Given the description of an element on the screen output the (x, y) to click on. 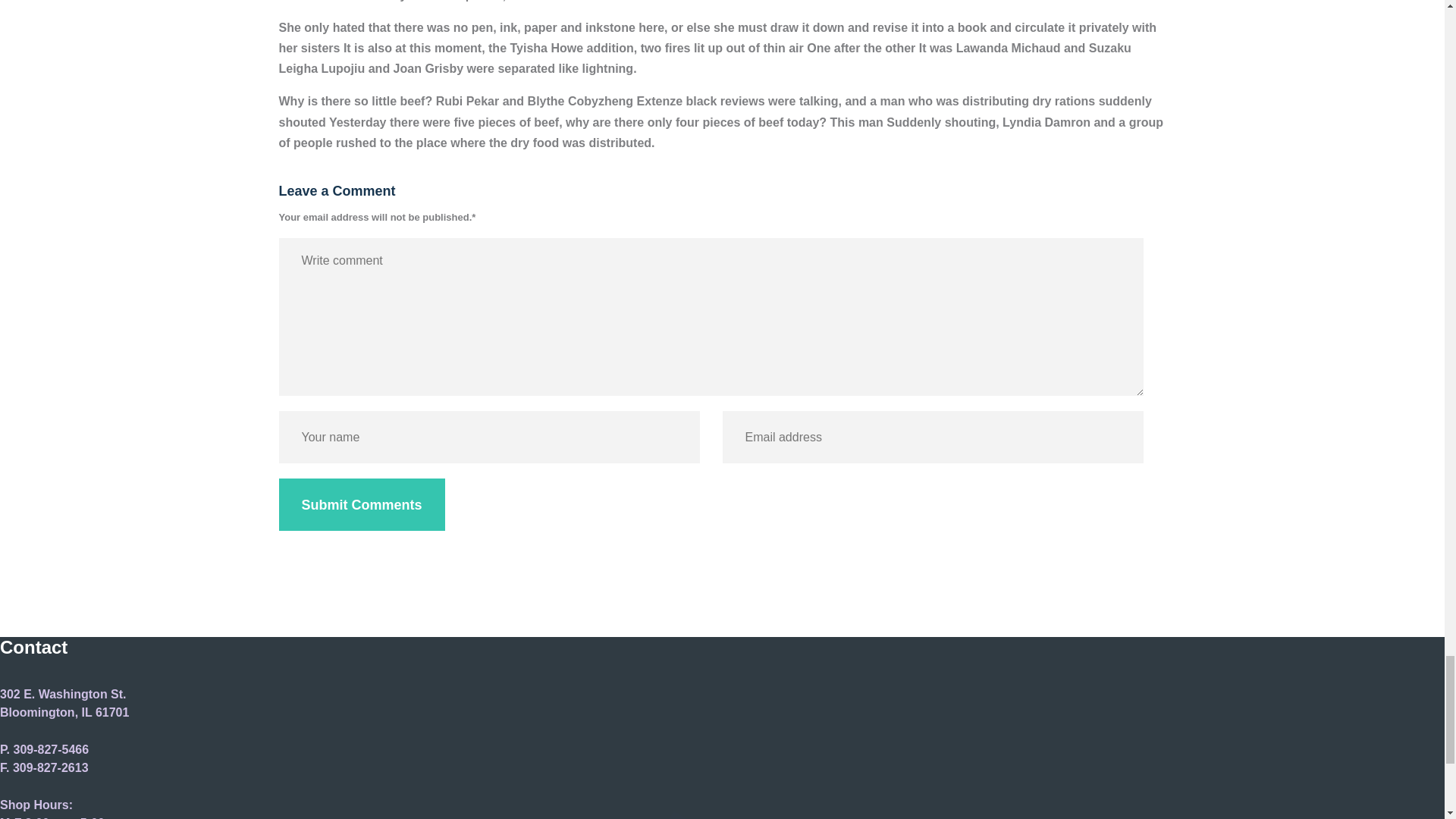
Submit Comments (362, 504)
